Given the description of an element on the screen output the (x, y) to click on. 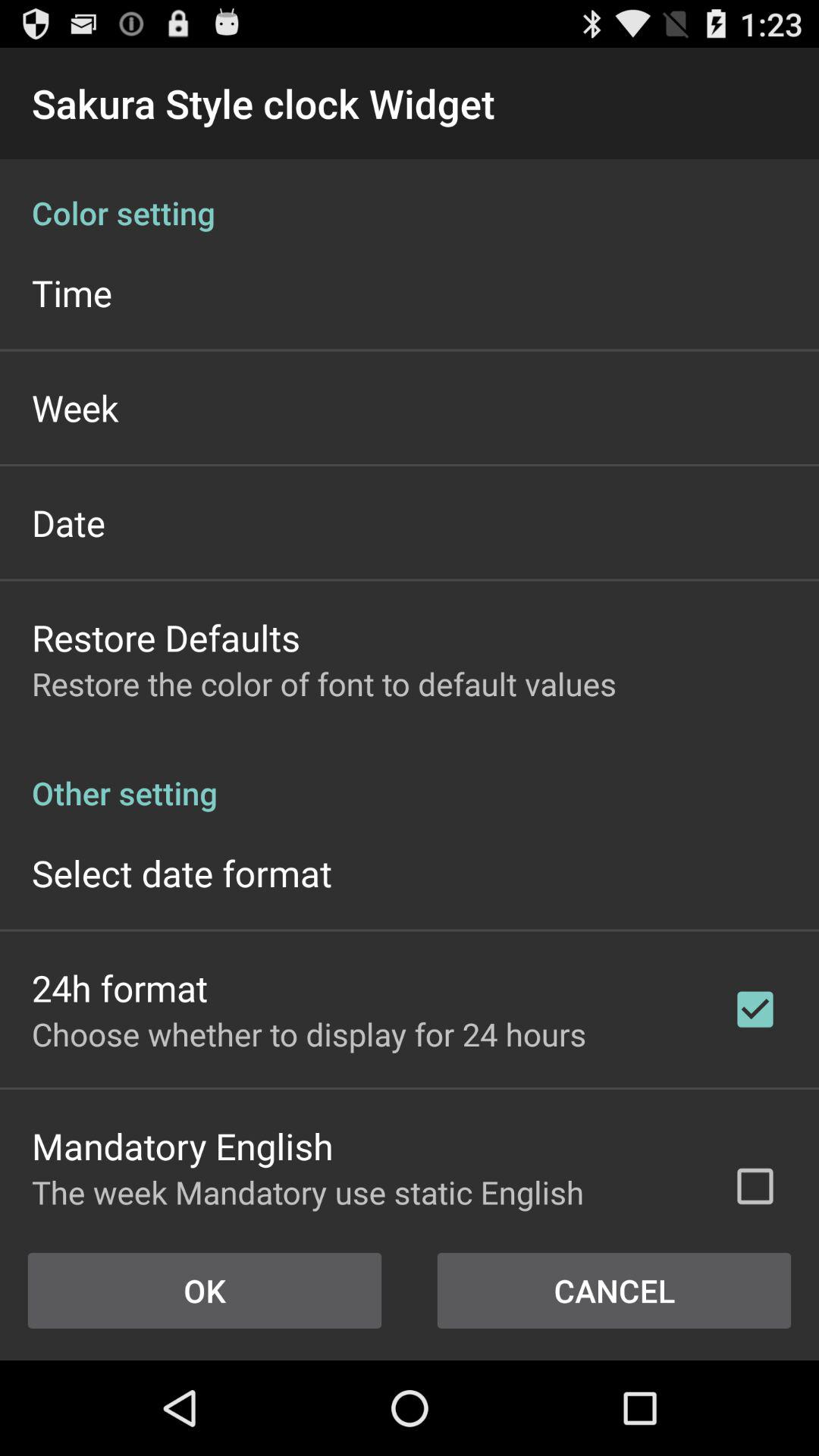
tap app above select date format app (409, 776)
